Given the description of an element on the screen output the (x, y) to click on. 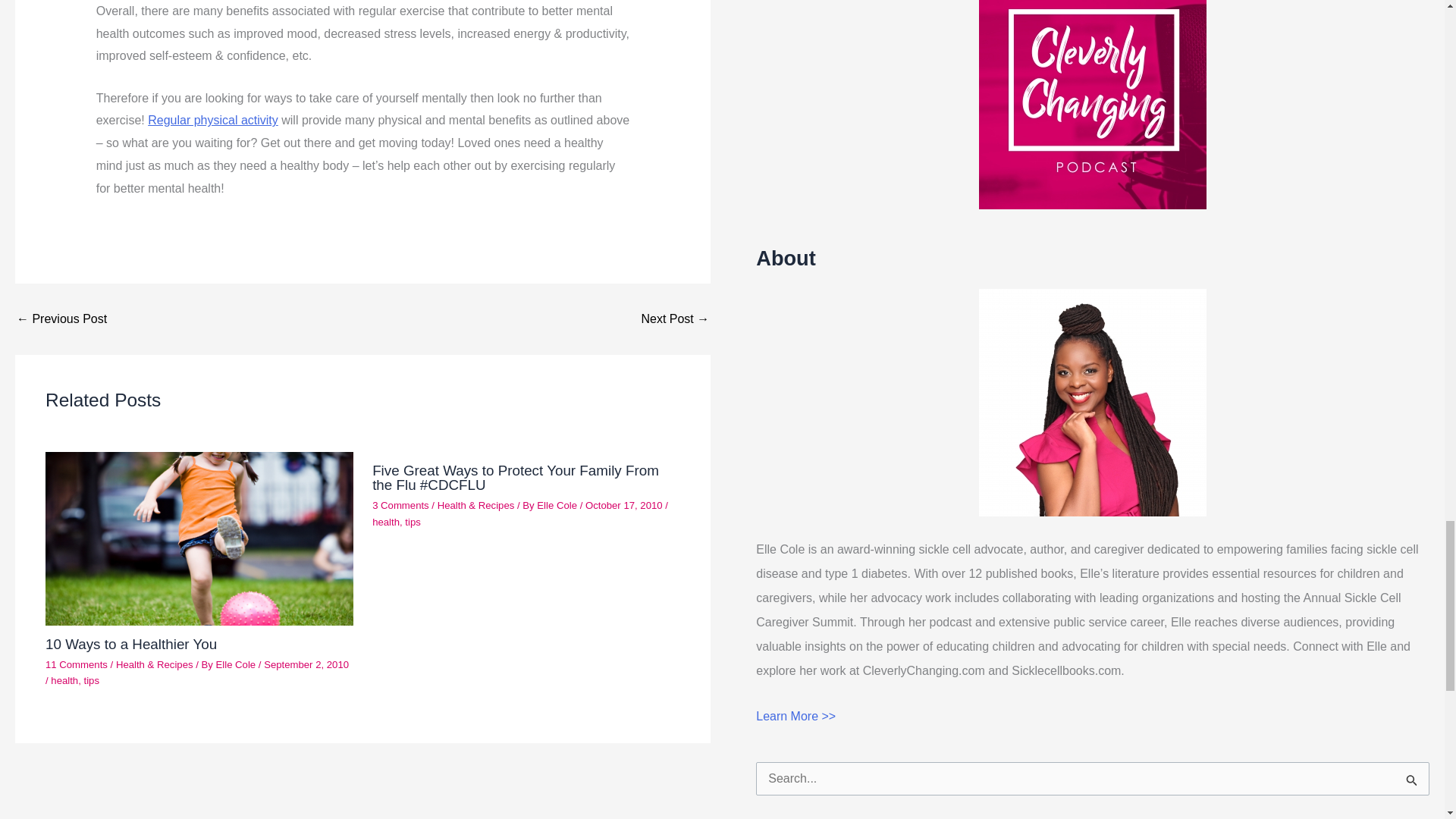
Lesson 95 Homeschool Tip 2 How to Create Lesson Plans (61, 318)
Teaching Black History With Brandi Riley? (674, 318)
View all posts by Elle Cole (558, 505)
Regular physical activity (213, 119)
View all posts by Elle Cole (237, 664)
